Given the description of an element on the screen output the (x, y) to click on. 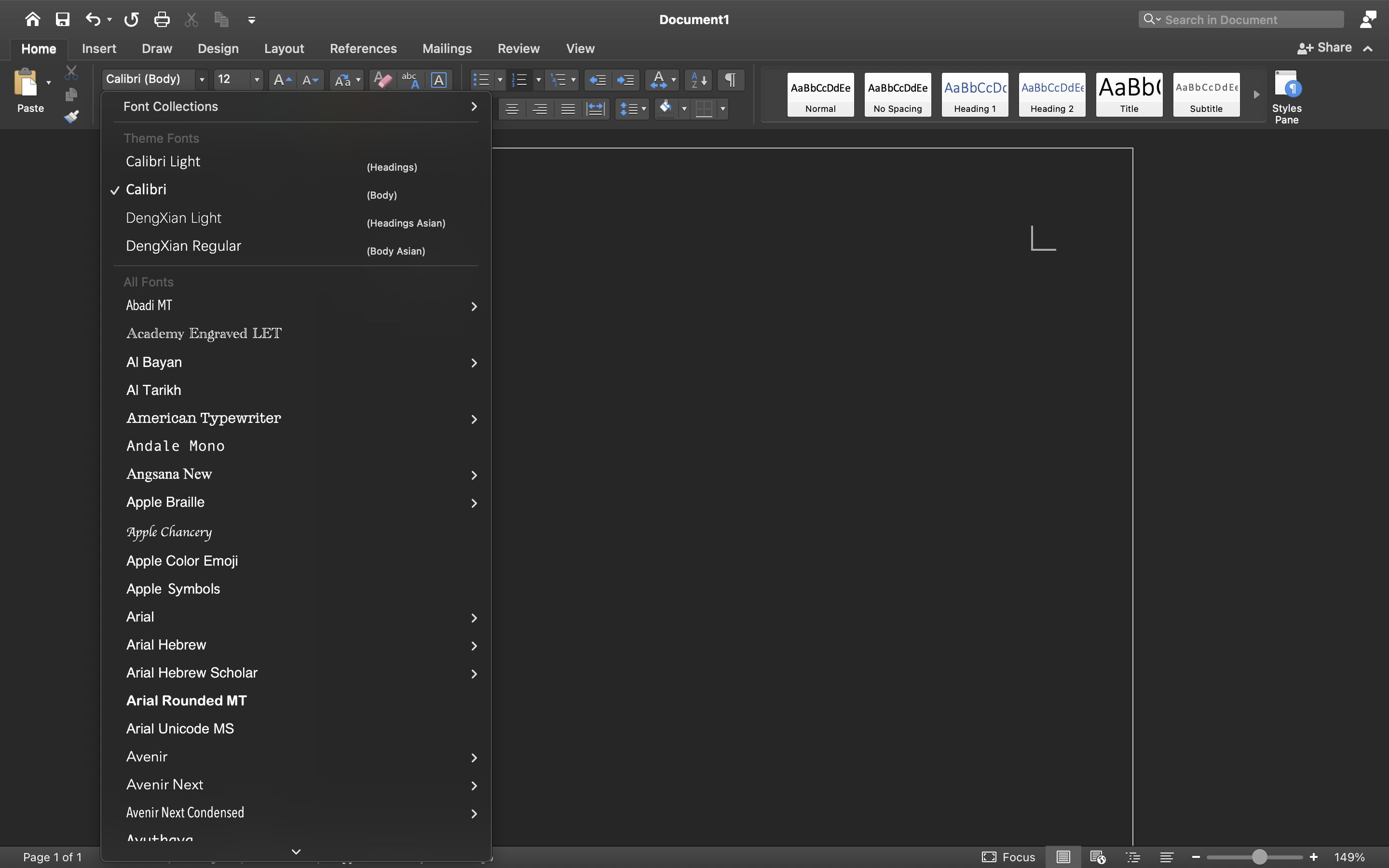
0 Element type: AXCheckBox (417, 856)
0 Element type: AXRadioButton (820, 94)
1123.0 Element type: AXSlider (1254, 856)
